Given the description of an element on the screen output the (x, y) to click on. 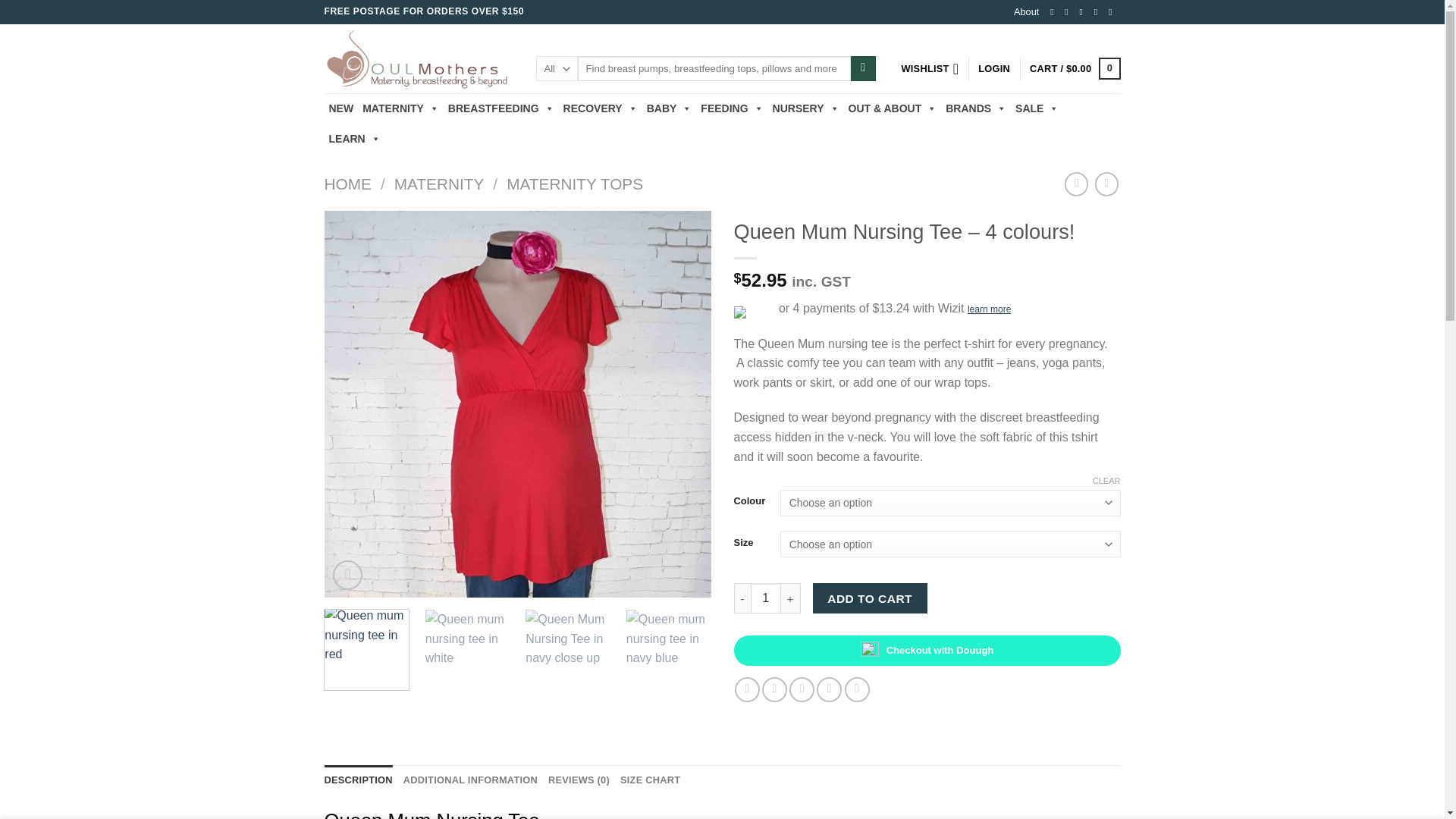
LOGIN (994, 67)
BREASTFEEDING (501, 108)
Soul Mothers - Buy affordable breastfeeding clothing online (418, 58)
About (1026, 12)
Search (863, 68)
Login (994, 67)
Wishlist (929, 68)
Share on Facebook (747, 689)
Cart (1074, 68)
NEW (341, 108)
